Given the description of an element on the screen output the (x, y) to click on. 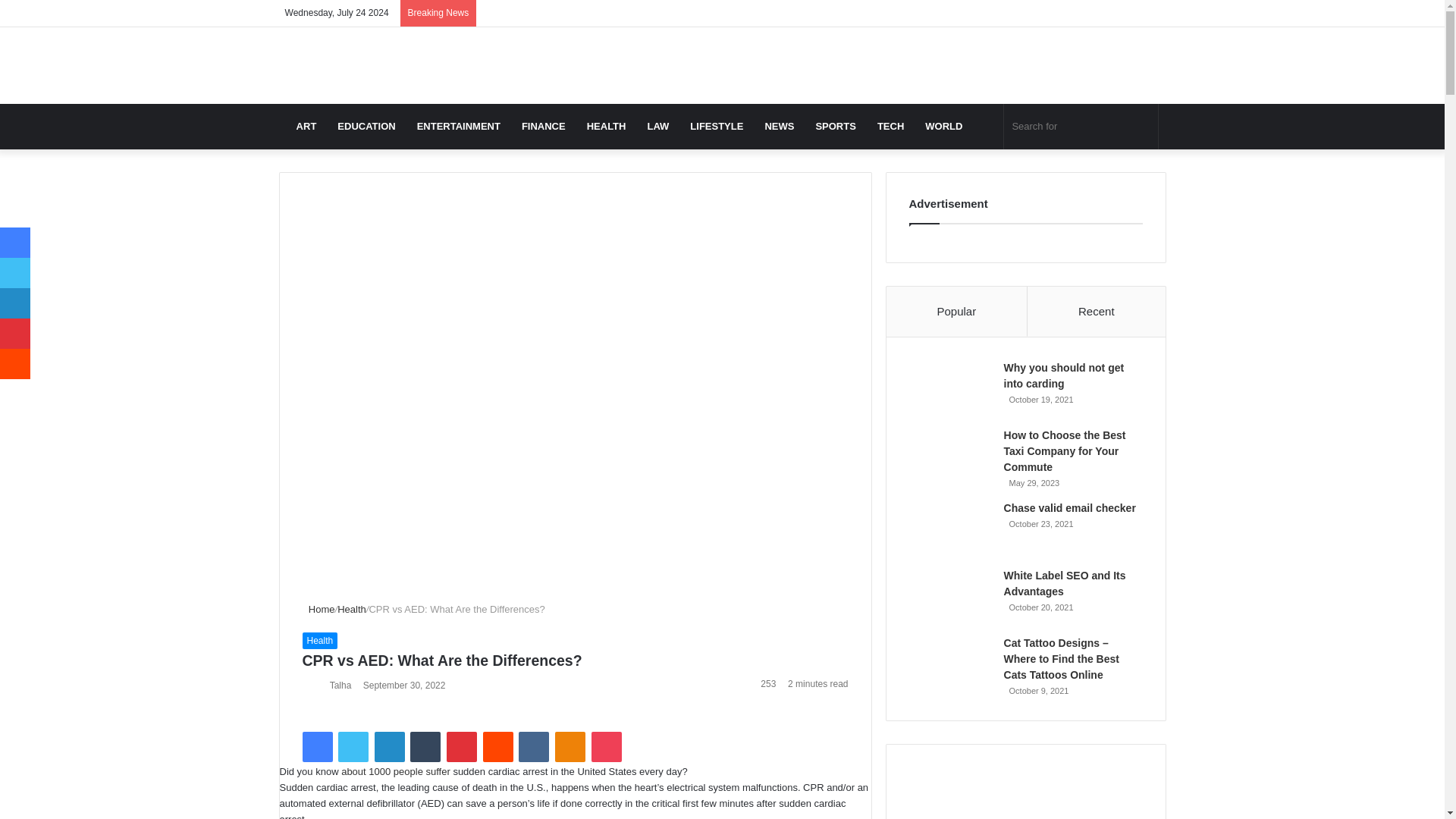
NEWS (779, 126)
Twitter (352, 747)
Reddit (498, 747)
LinkedIn (389, 747)
LIFESTYLE (716, 126)
ART (306, 126)
Health (351, 609)
Odnoklassniki (569, 747)
LAW (657, 126)
EDUCATION (366, 126)
WORLD (943, 126)
Tumblr (425, 747)
Facebook (316, 747)
Home (317, 609)
VKontakte (533, 747)
